Given the description of an element on the screen output the (x, y) to click on. 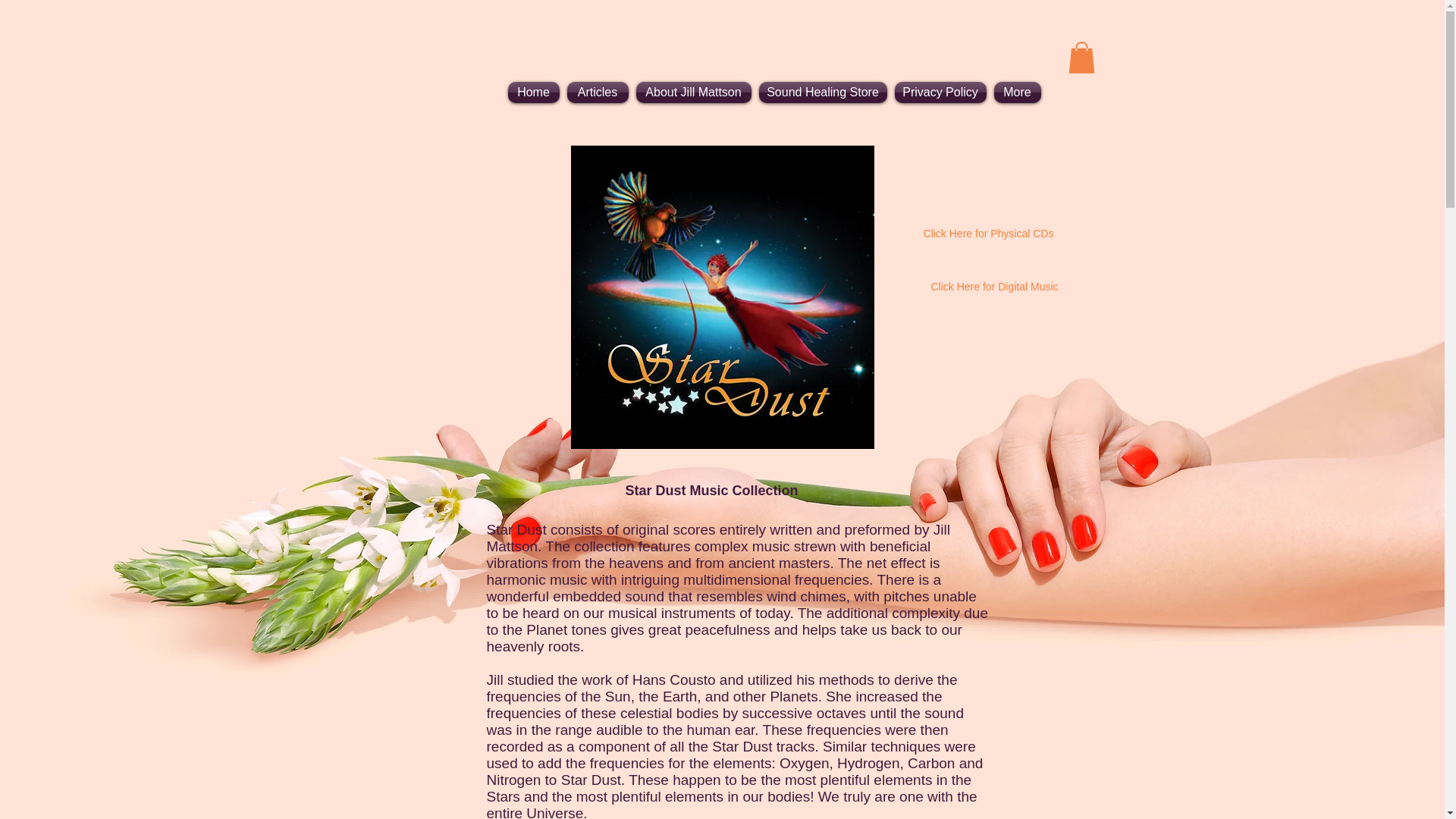
Click Here for Digital Music (994, 286)
About Jill Mattson (693, 92)
Home (535, 92)
Privacy Policy (939, 92)
Articles (596, 92)
Sound Healing Store (823, 92)
Click Here for Physical CDs (988, 234)
